Given the description of an element on the screen output the (x, y) to click on. 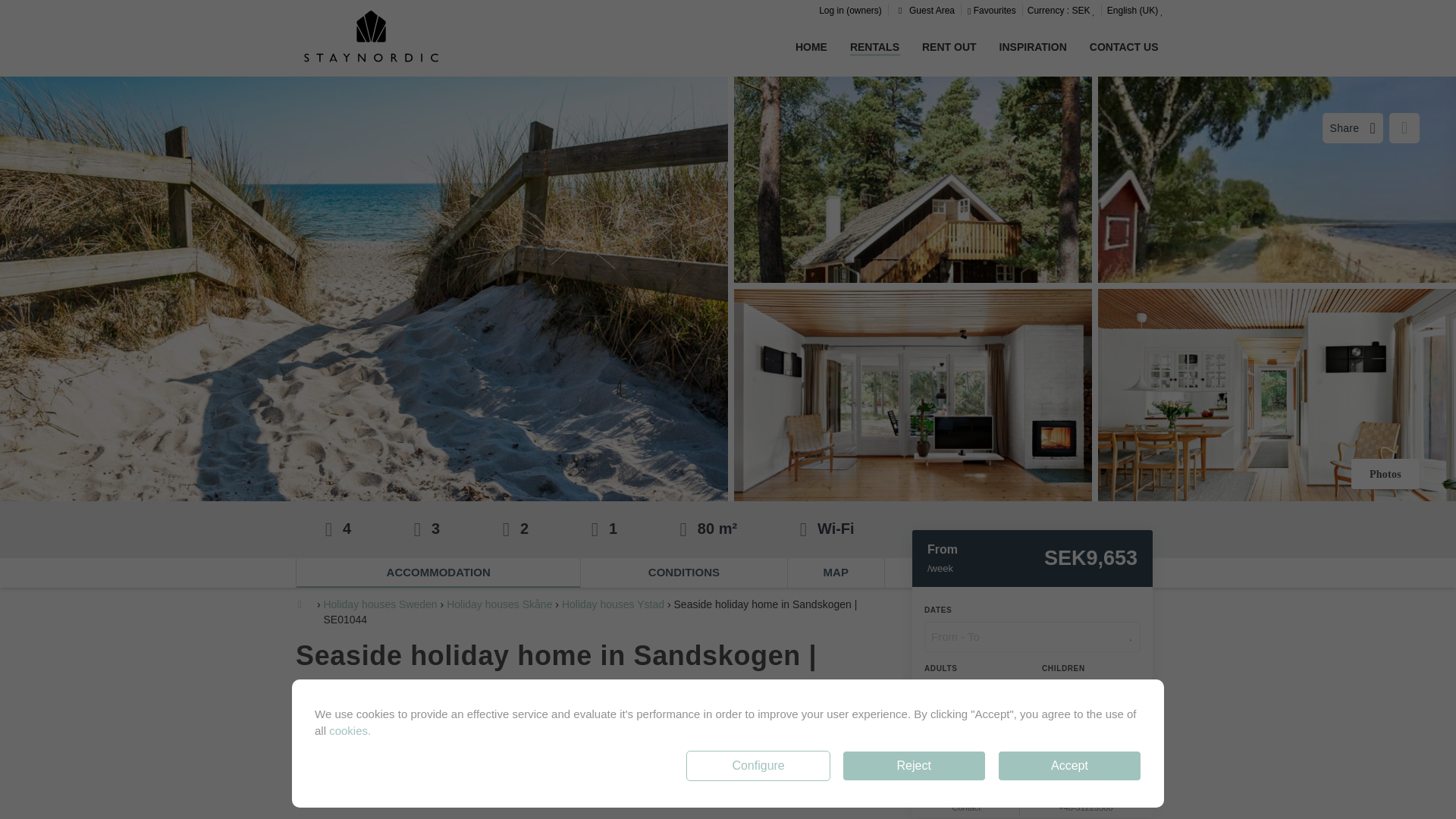
Accept (1069, 766)
0 (1091, 695)
HOME (810, 48)
Favourites (991, 10)
Reject (914, 766)
cookies. (350, 730)
Guest Area (924, 10)
RENT OUT (948, 48)
INSPIRATION (1032, 48)
RENTALS (874, 46)
